Given the description of an element on the screen output the (x, y) to click on. 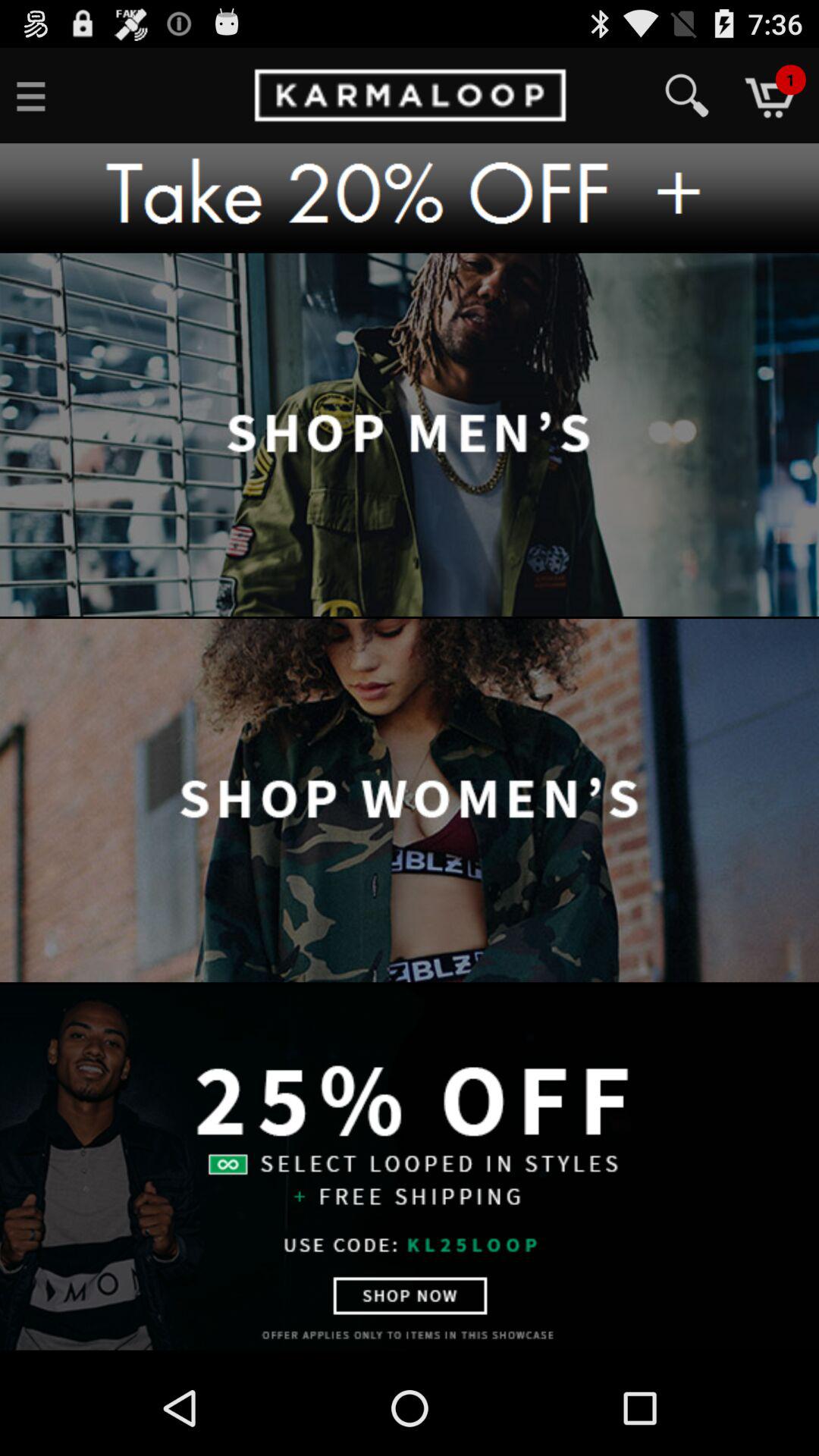
go to men 's items (409, 435)
